Given the description of an element on the screen output the (x, y) to click on. 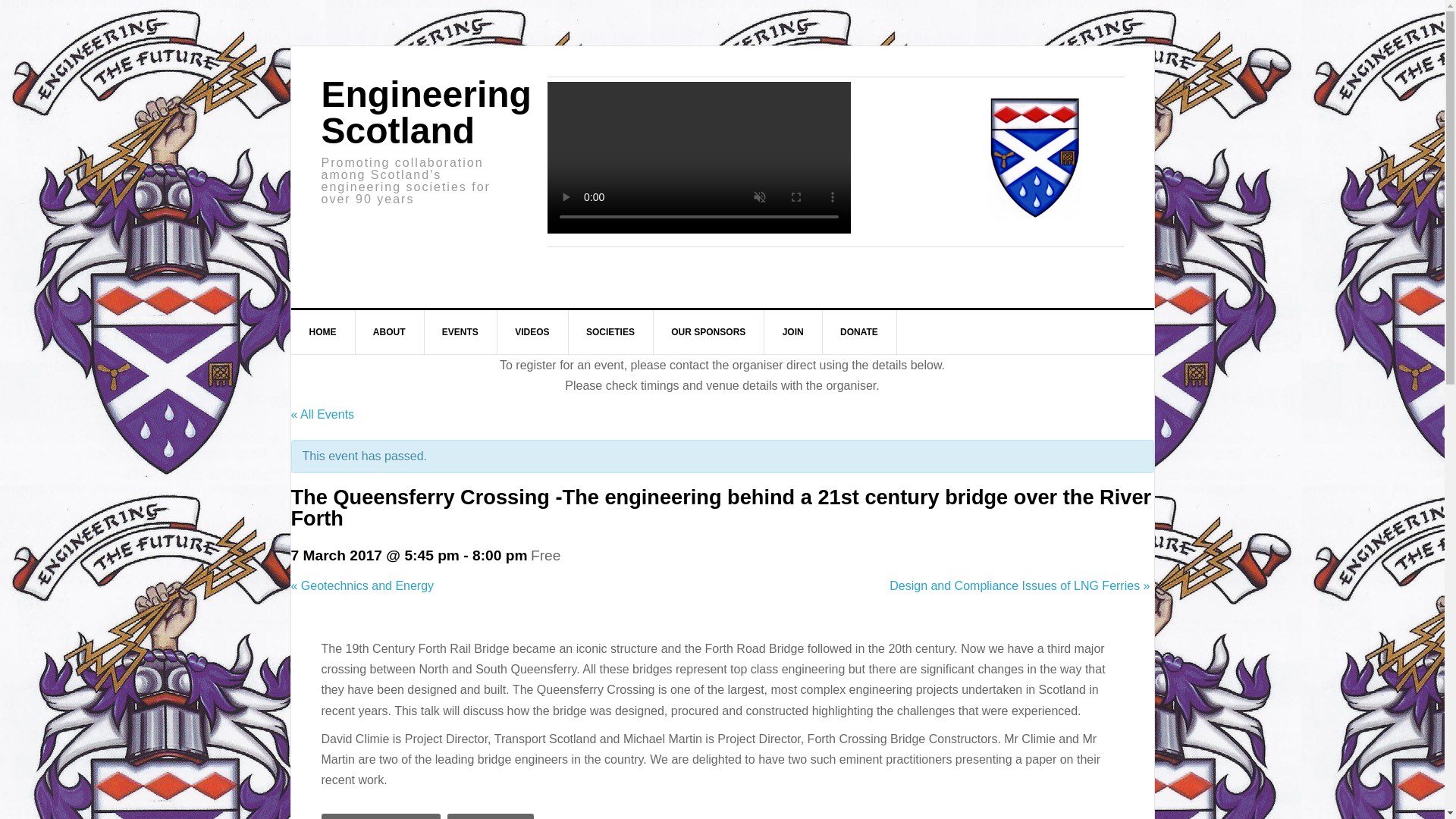
ABOUT (390, 331)
Download .ics file (490, 816)
Engineering Scotland (426, 112)
VIDEOS (531, 331)
JOIN (793, 331)
EVENTS (460, 331)
HOME (323, 331)
Add to Google Calendar (381, 816)
DONATE (859, 331)
OUR SPONSORS (708, 331)
SOCIETIES (610, 331)
